Given the description of an element on the screen output the (x, y) to click on. 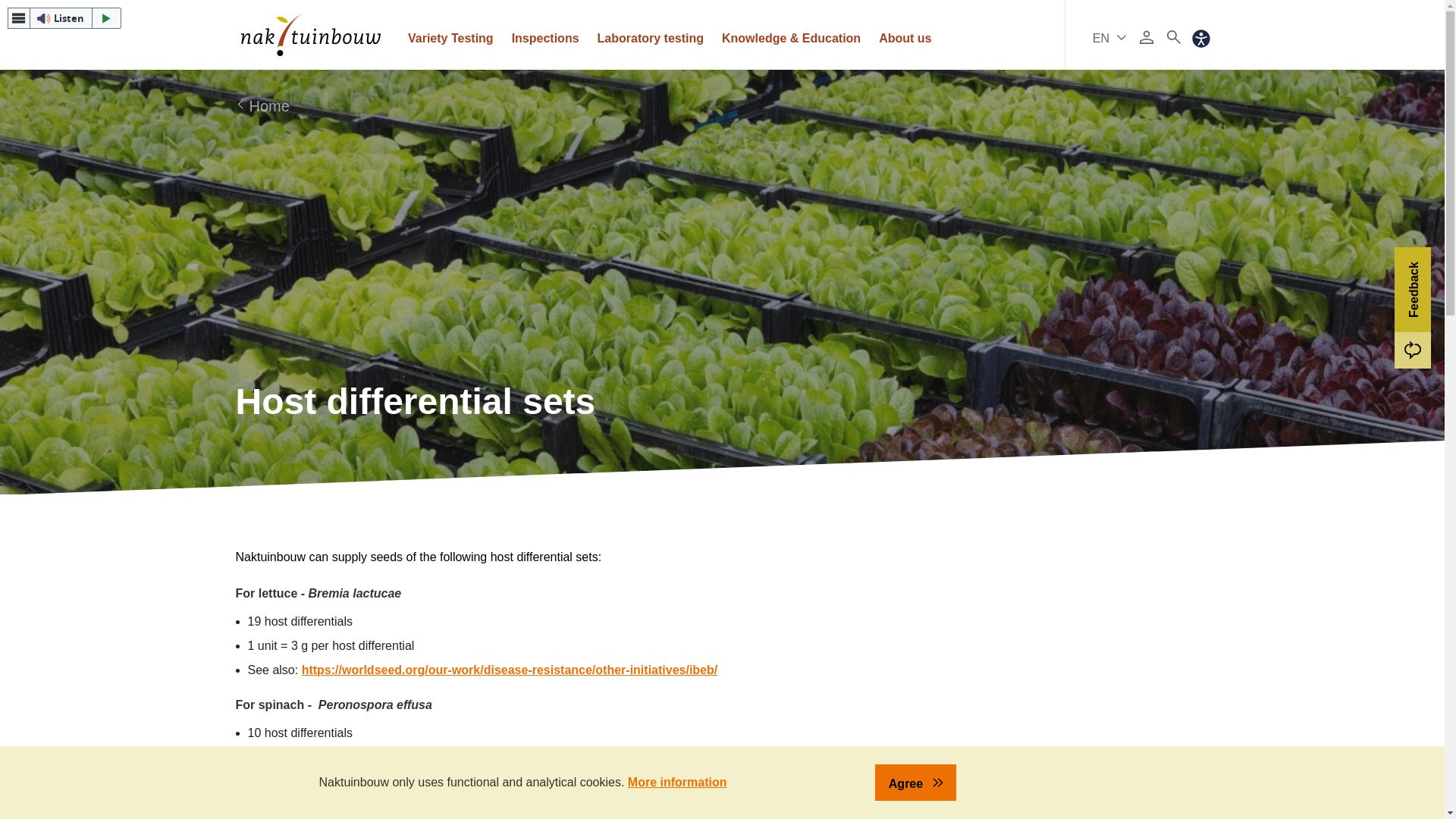
Laat de tekst voorlezen met ReadSpeaker webReader (63, 17)
Inspections (545, 34)
Listen (63, 17)
webReader menu (18, 17)
Naktuinbouw (310, 34)
Variety Testing (450, 34)
Variety Testing (450, 34)
